Given the description of an element on the screen output the (x, y) to click on. 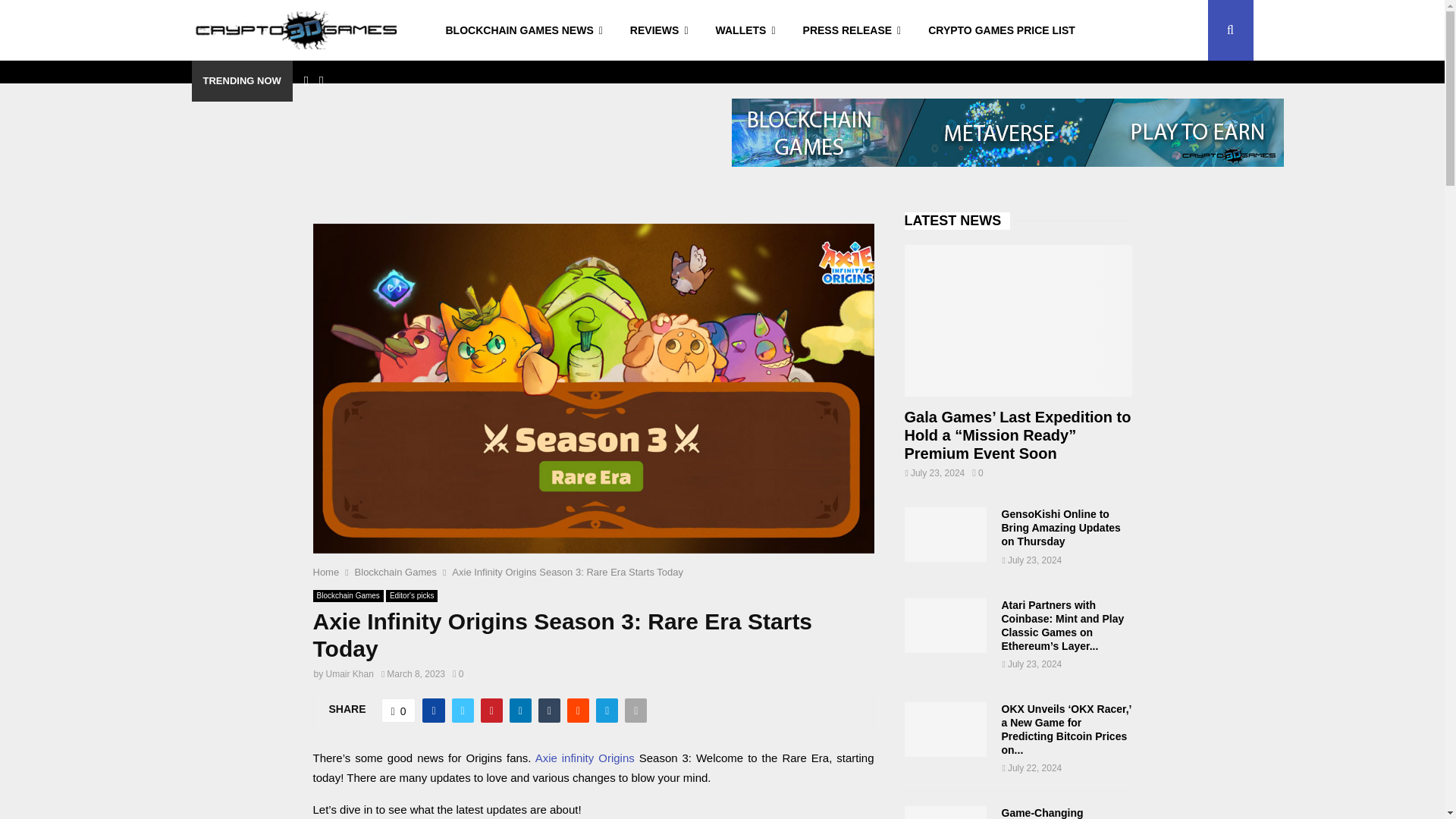
Like (398, 710)
WALLETS (745, 30)
REVIEWS (658, 30)
BLOCKCHAIN GAMES NEWS (523, 30)
